Given the description of an element on the screen output the (x, y) to click on. 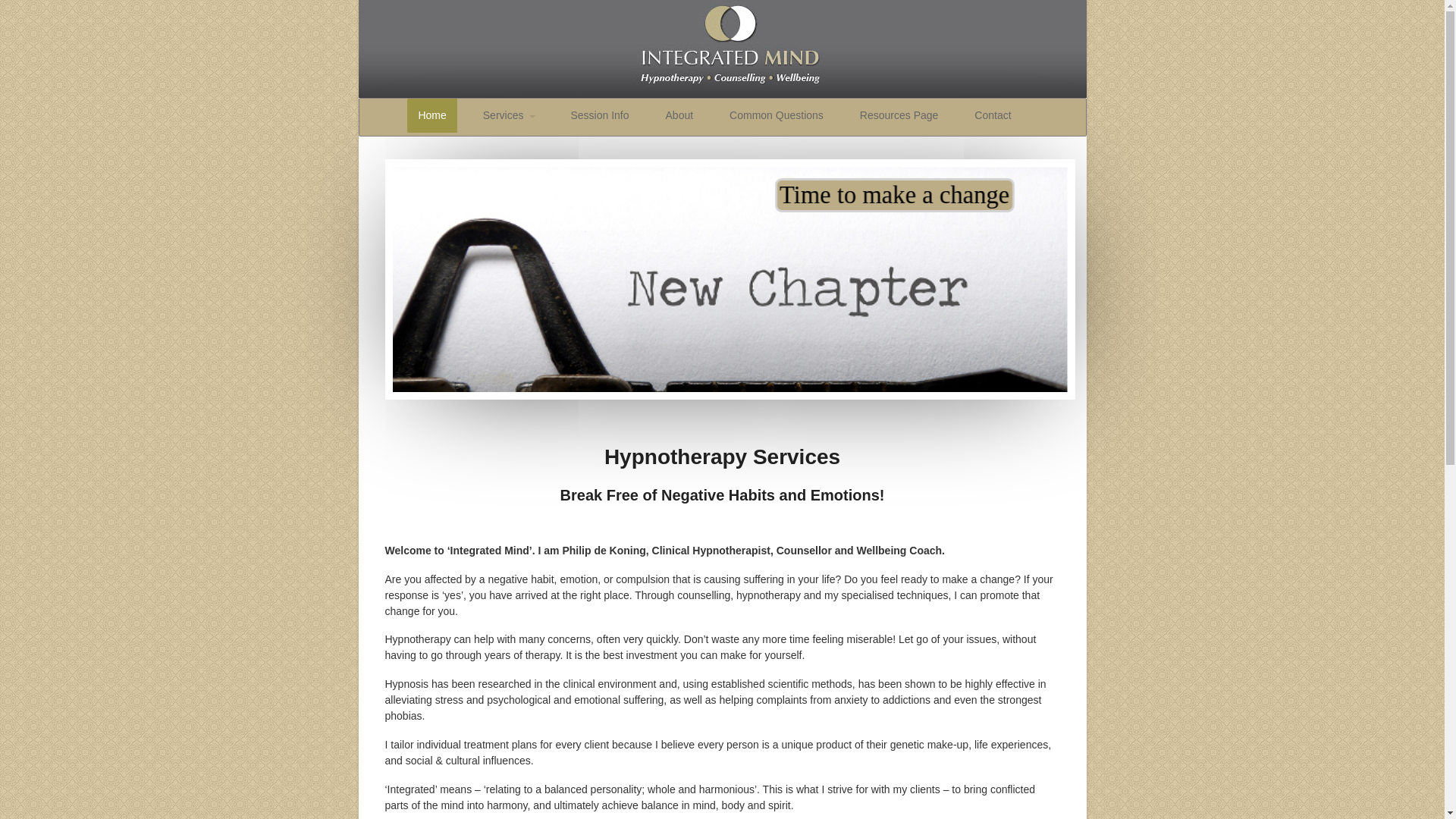
Resources Page Element type: text (899, 115)
Services Element type: text (508, 115)
About Element type: text (679, 115)
Contact Element type: text (992, 115)
Session Info Element type: text (599, 115)
Home Element type: text (431, 115)
Common Questions Element type: text (776, 115)
